Given the description of an element on the screen output the (x, y) to click on. 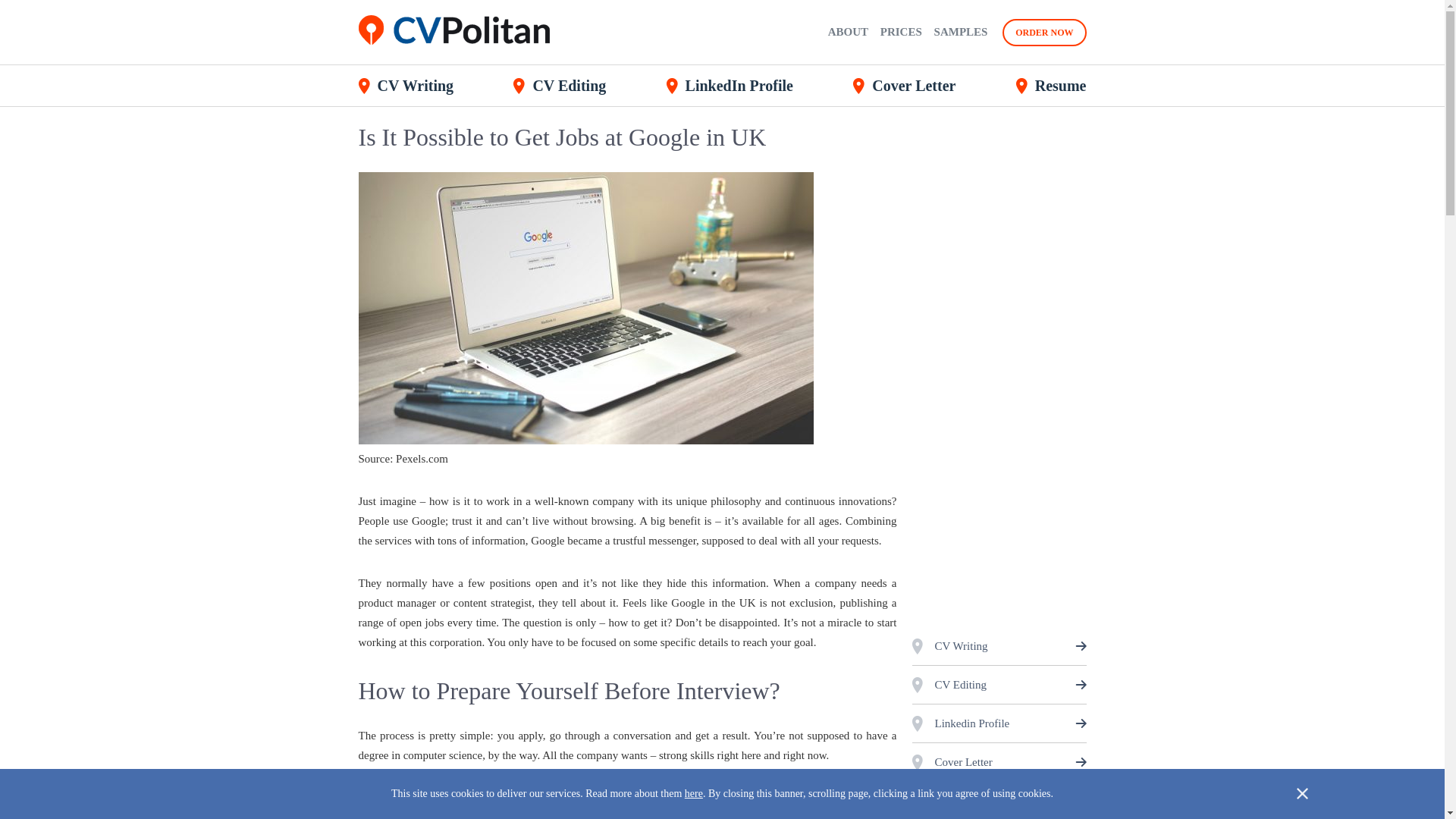
ORDER NOW (1044, 31)
Resume (998, 800)
here (693, 793)
CV Editing (559, 85)
Resume (1051, 85)
Linkedin Profile (998, 723)
CV Writing (405, 85)
Cover Letter (904, 85)
CV Writing (998, 646)
SAMPLES (961, 31)
Cover Letter (998, 761)
PRICES (901, 31)
LinkedIn Profile (729, 85)
CV Editing (998, 684)
ABOUT (848, 31)
